Given the description of an element on the screen output the (x, y) to click on. 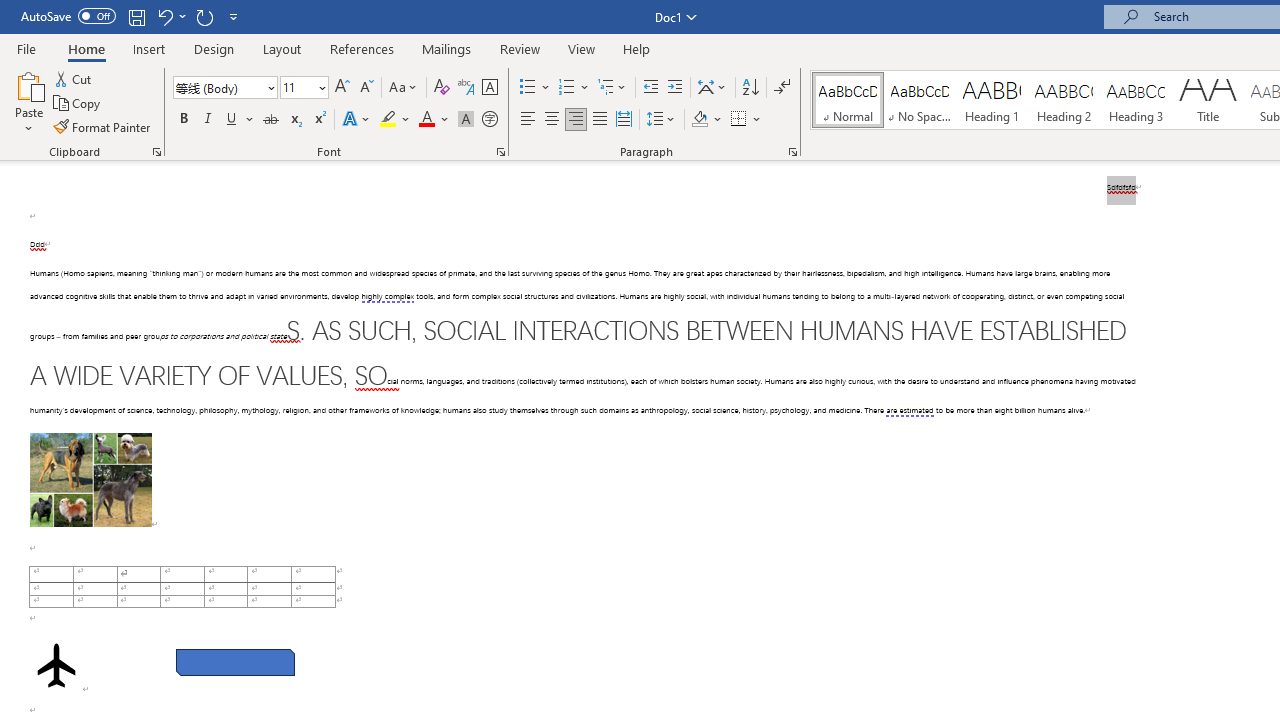
Repeat Paragraph Alignment (204, 15)
